Given the description of an element on the screen output the (x, y) to click on. 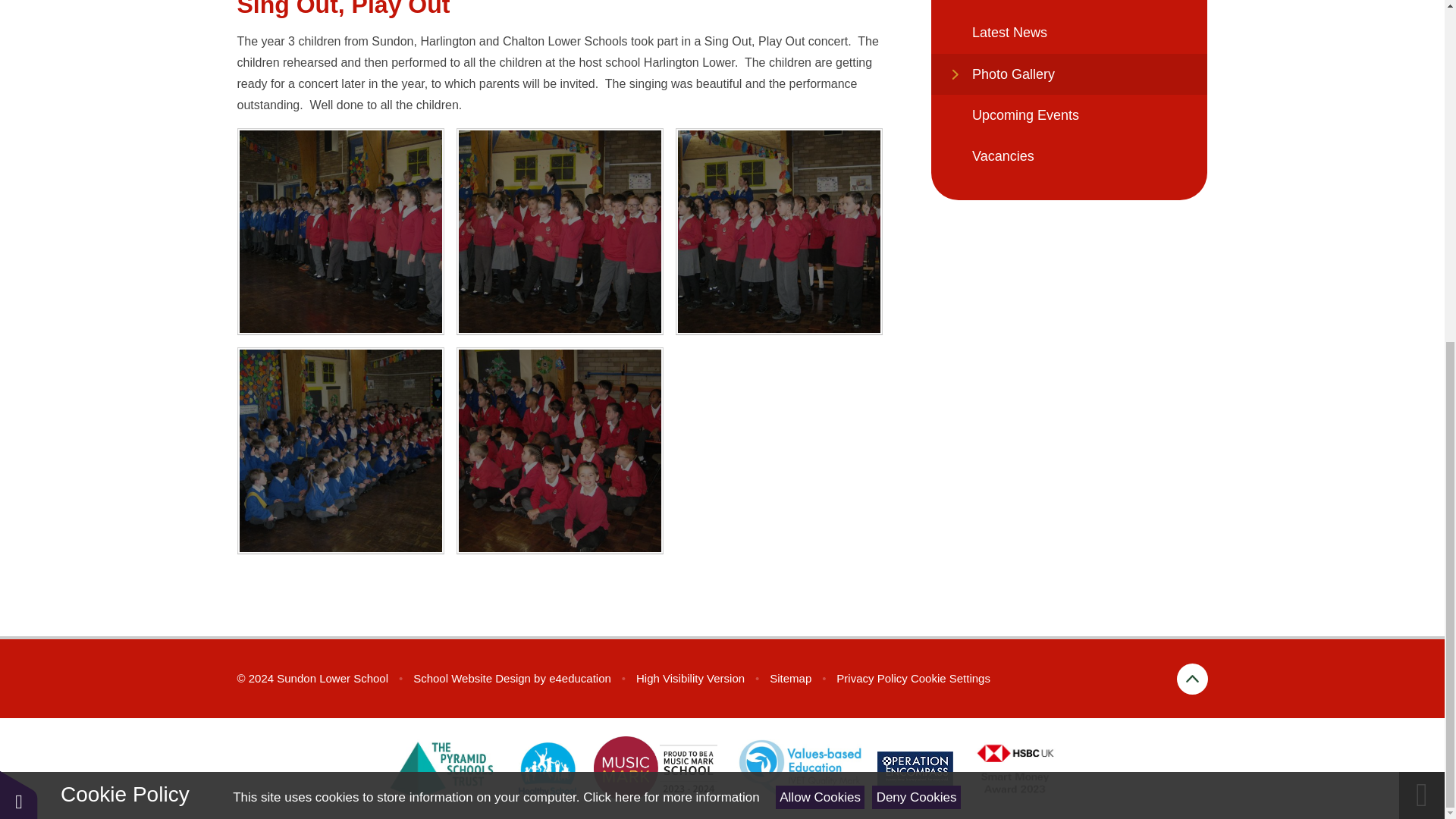
Allow Cookies (820, 215)
Cookie Settings (950, 677)
See cookie policy (670, 215)
Deny Cookies (915, 215)
